Given the description of an element on the screen output the (x, y) to click on. 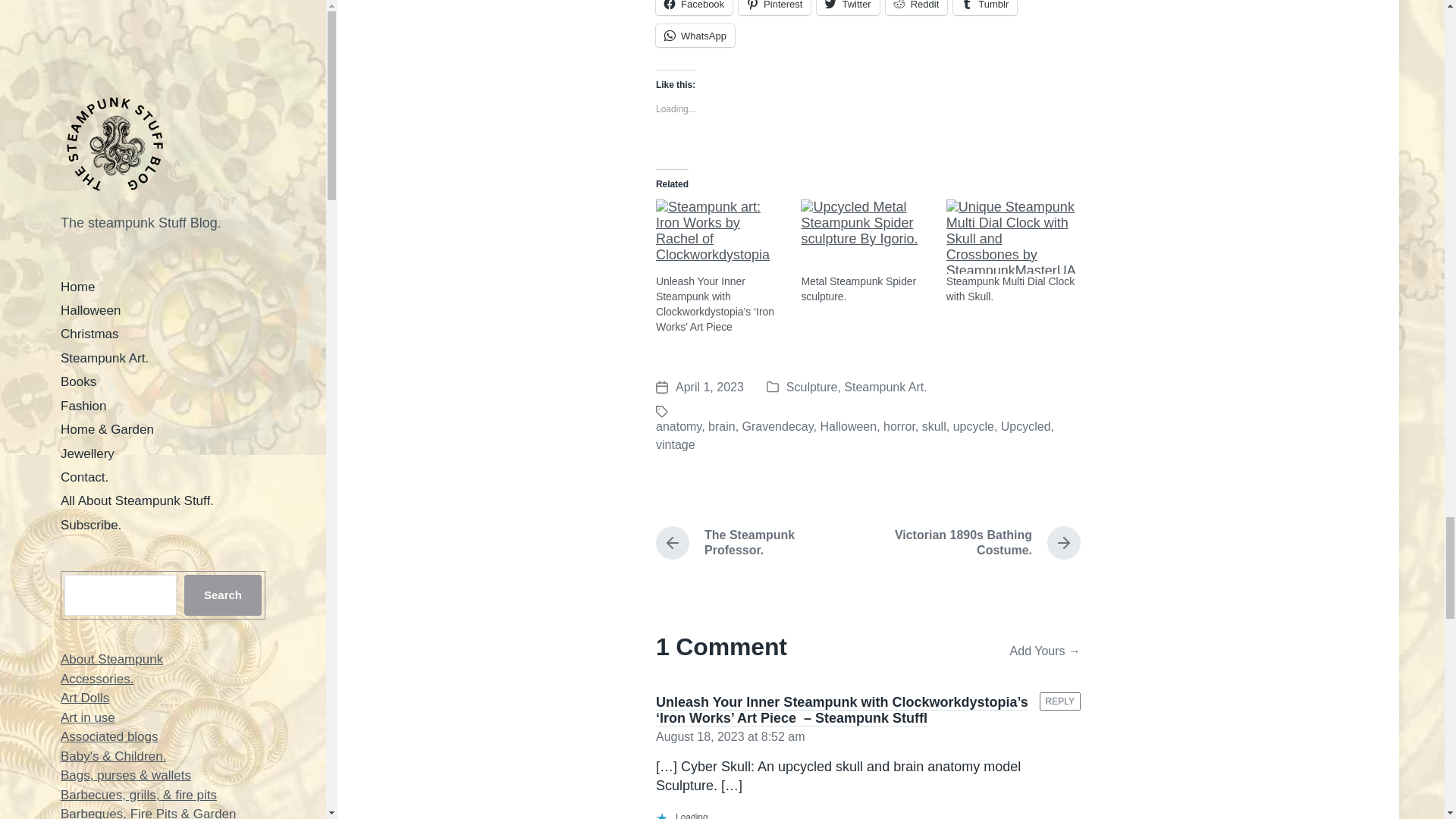
Click to share on Reddit (916, 7)
Click to share on Tumblr (984, 7)
Metal Steampunk Spider sculpture. (865, 236)
Click to share on Facebook (694, 7)
Click to share on Twitter (847, 7)
Click to share on Pinterest (774, 7)
Click to share on WhatsApp (695, 35)
Metal Steampunk Spider sculpture. (857, 288)
